Given the description of an element on the screen output the (x, y) to click on. 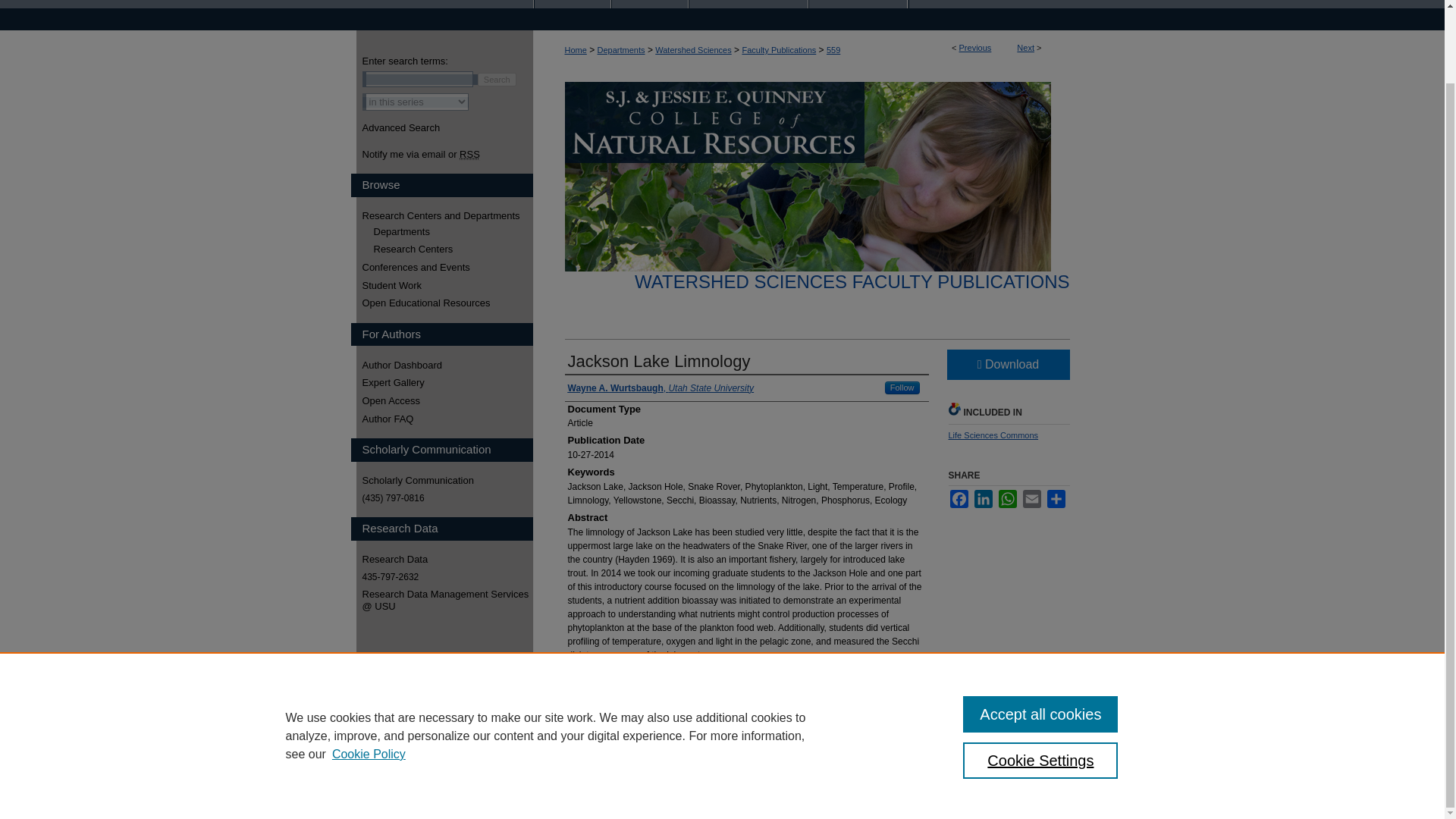
Author Gallery (748, 4)
Faculty Publications (778, 49)
Jackson Lake Limnology (658, 361)
Author Gallery (748, 4)
Next (1024, 47)
Share (1055, 498)
Search (496, 79)
Home (575, 49)
About (649, 4)
WhatsApp (1006, 498)
WATERSHED SCIENCES FACULTY PUBLICATIONS (851, 281)
Watershed Sciences (692, 49)
Email (1031, 498)
Research Centers and Departments (447, 215)
Notify me via email or RSS (447, 154)
